Given the description of an element on the screen output the (x, y) to click on. 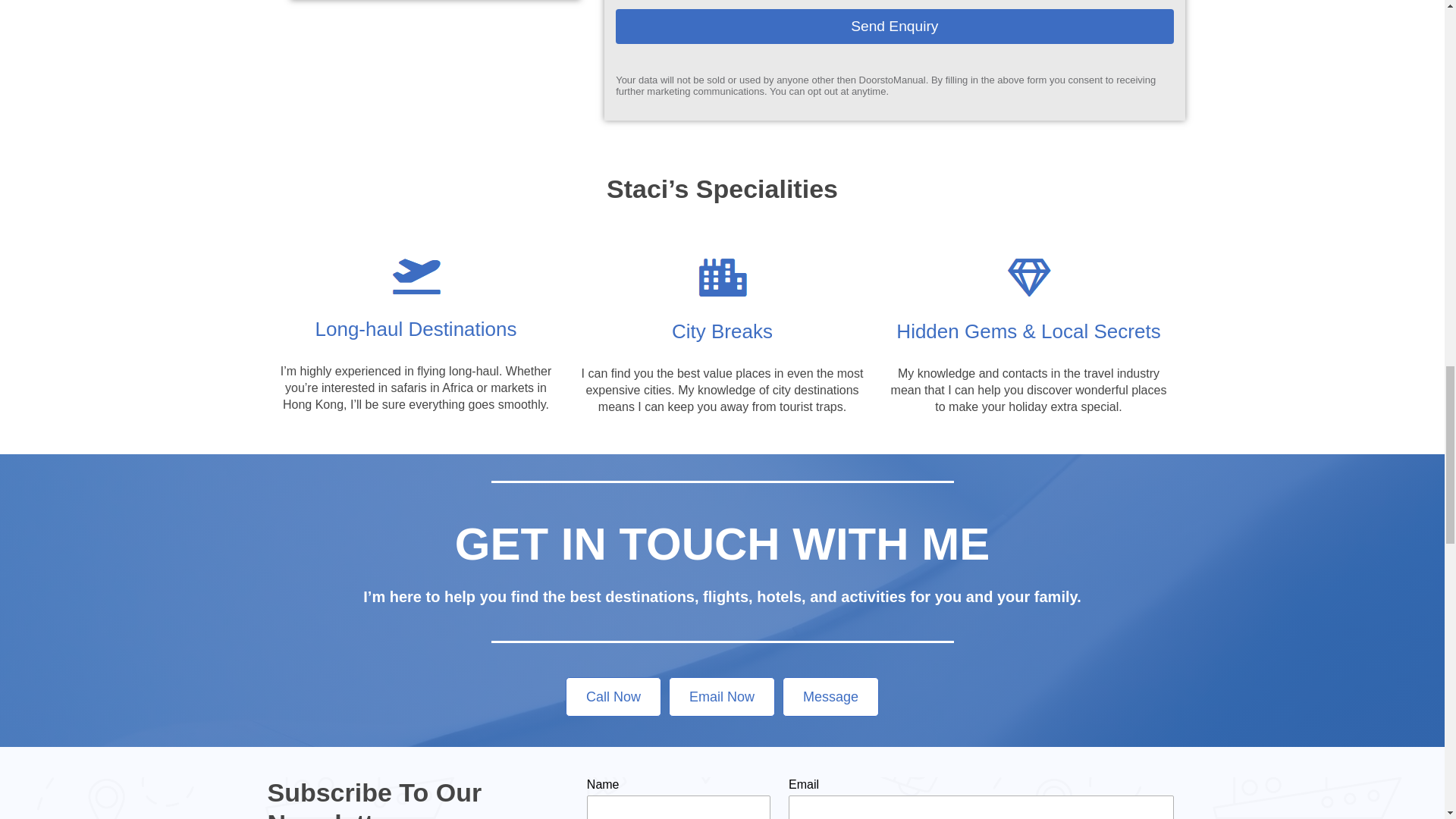
Call Now (613, 696)
Send Enquiry (894, 26)
Message (831, 696)
Email Now (721, 696)
Send Enquiry (894, 26)
